Given the description of an element on the screen output the (x, y) to click on. 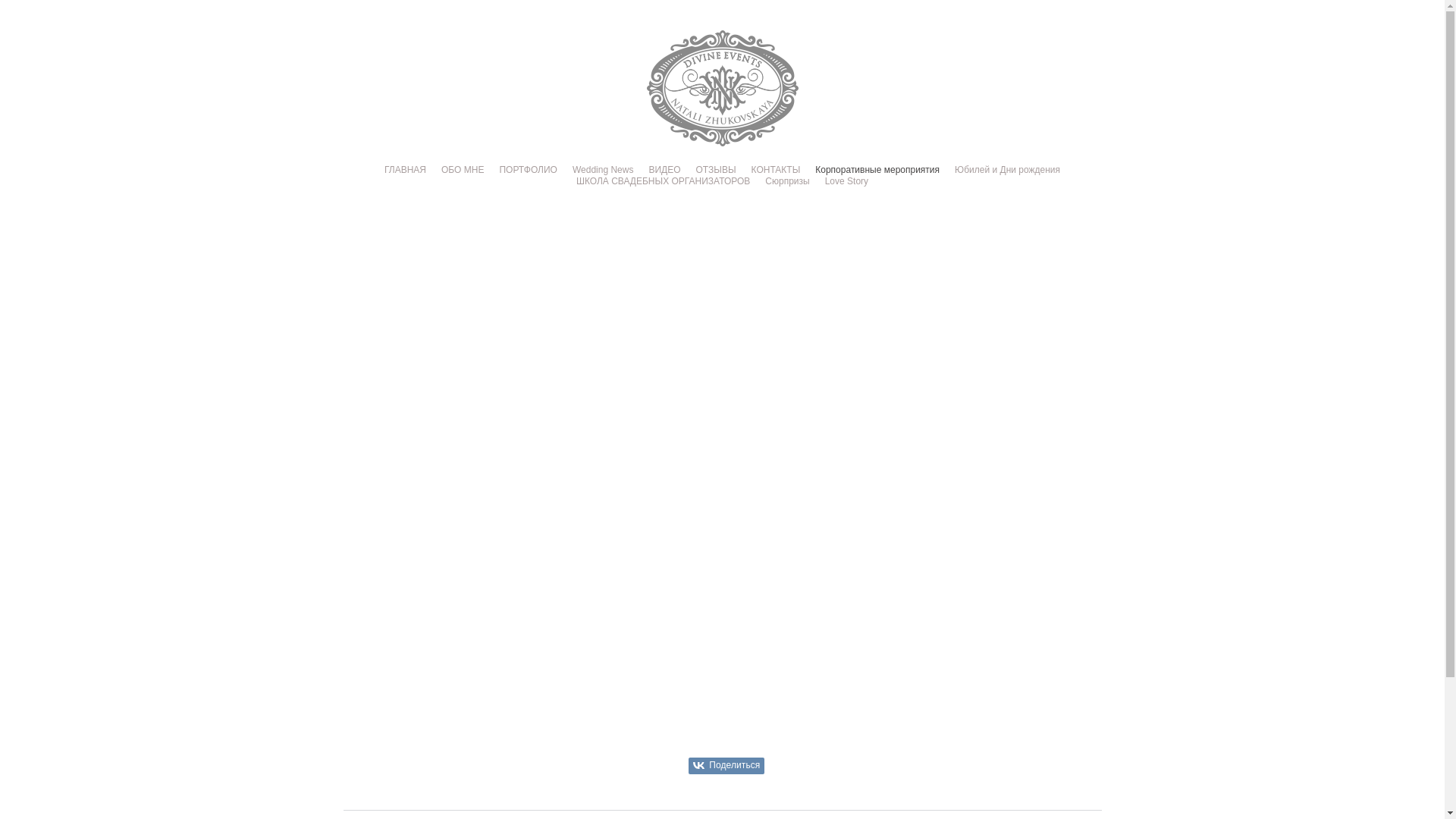
Wedding News Element type: text (602, 169)
Love Story Element type: text (846, 180)
